Given the description of an element on the screen output the (x, y) to click on. 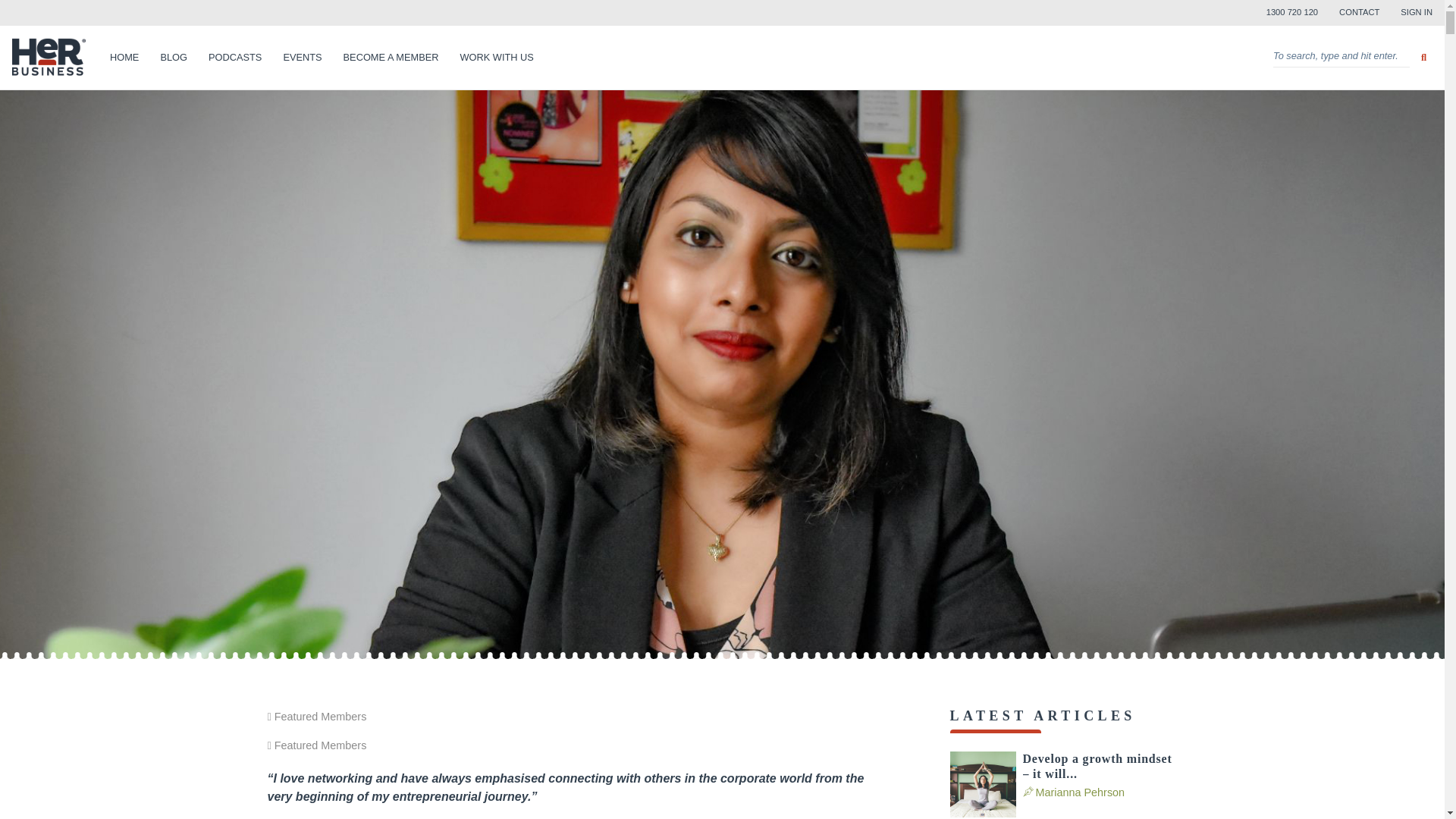
PODCASTS (234, 57)
BLOG (173, 57)
Featured Members (320, 716)
CONTACT (1358, 12)
Marianna Pehrson (1080, 792)
HOME (124, 57)
EVENTS (301, 57)
1300 720 120 (1291, 12)
WORK WITH US (495, 57)
Marianna Pehrson (1080, 792)
BECOME A MEMBER (391, 57)
HerBusiness (48, 57)
Featured Members (320, 745)
